Given the description of an element on the screen output the (x, y) to click on. 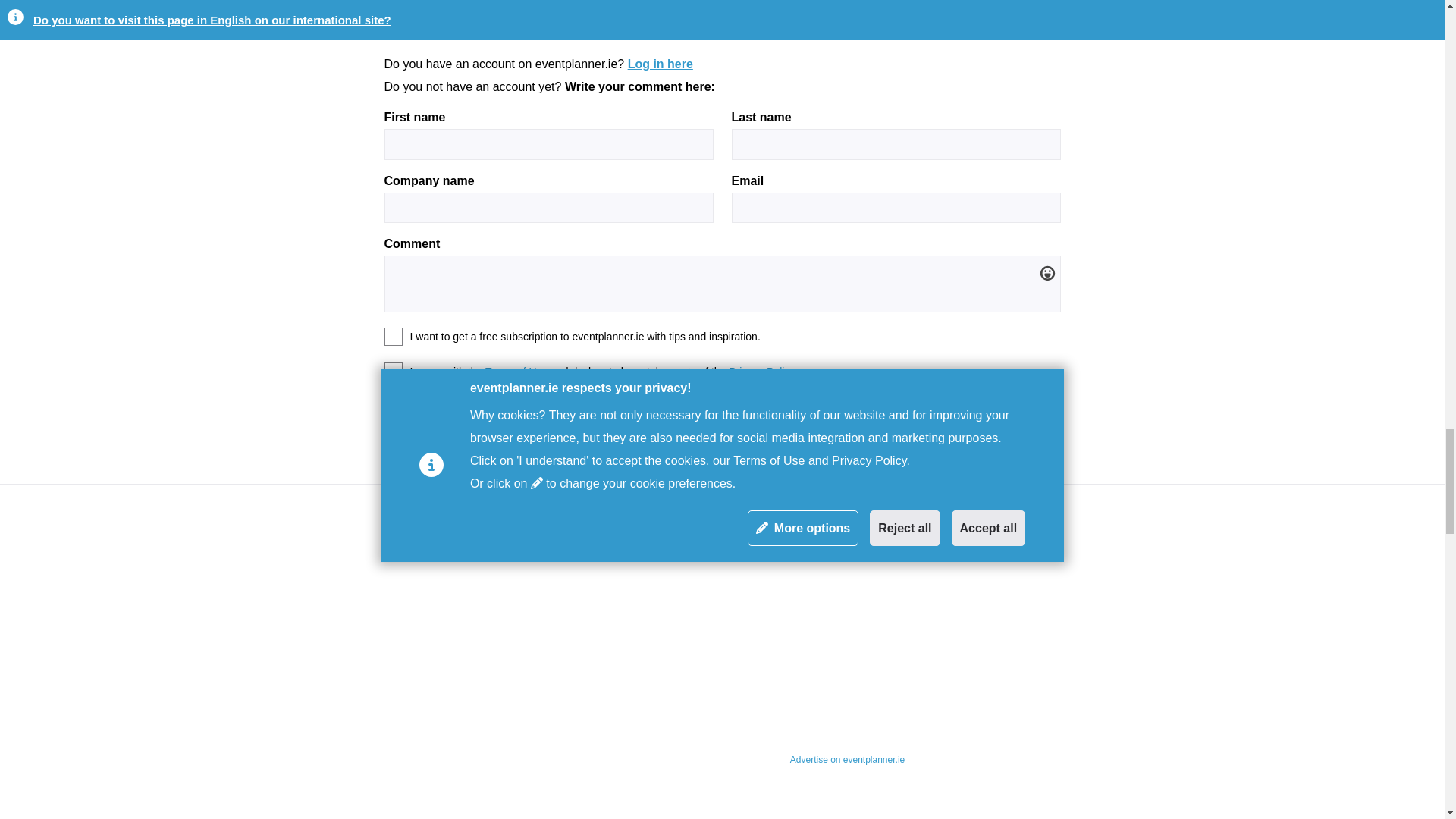
Comment (424, 409)
